Given the description of an element on the screen output the (x, y) to click on. 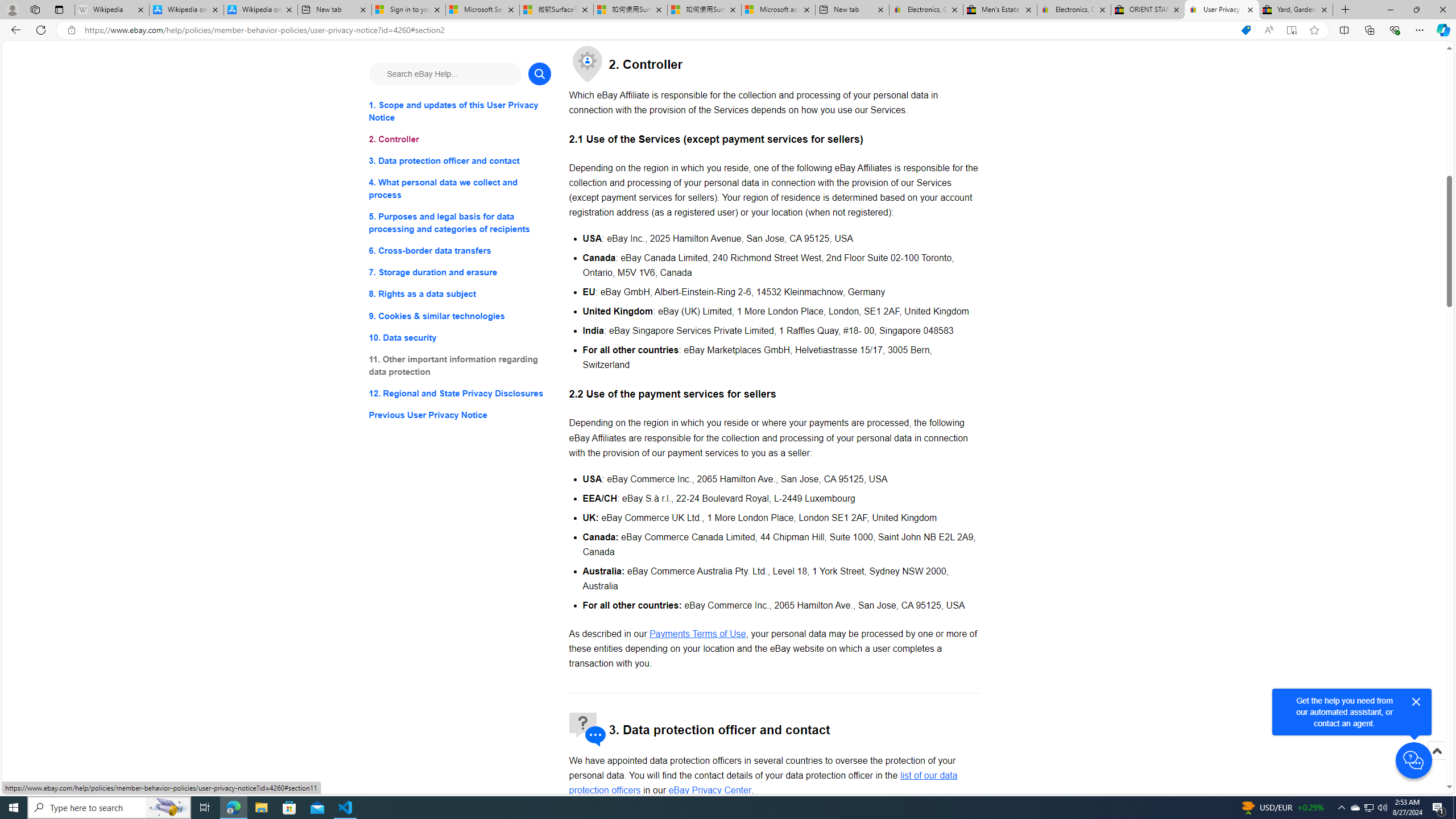
11. Other important information regarding data protection (459, 365)
3. Data protection officer and contact (459, 160)
6. Cross-border data transfers (459, 250)
10. Data security (459, 336)
4. What personal data we collect and process (459, 189)
Previous User Privacy Notice (459, 414)
6. Cross-border data transfers (459, 250)
